Given the description of an element on the screen output the (x, y) to click on. 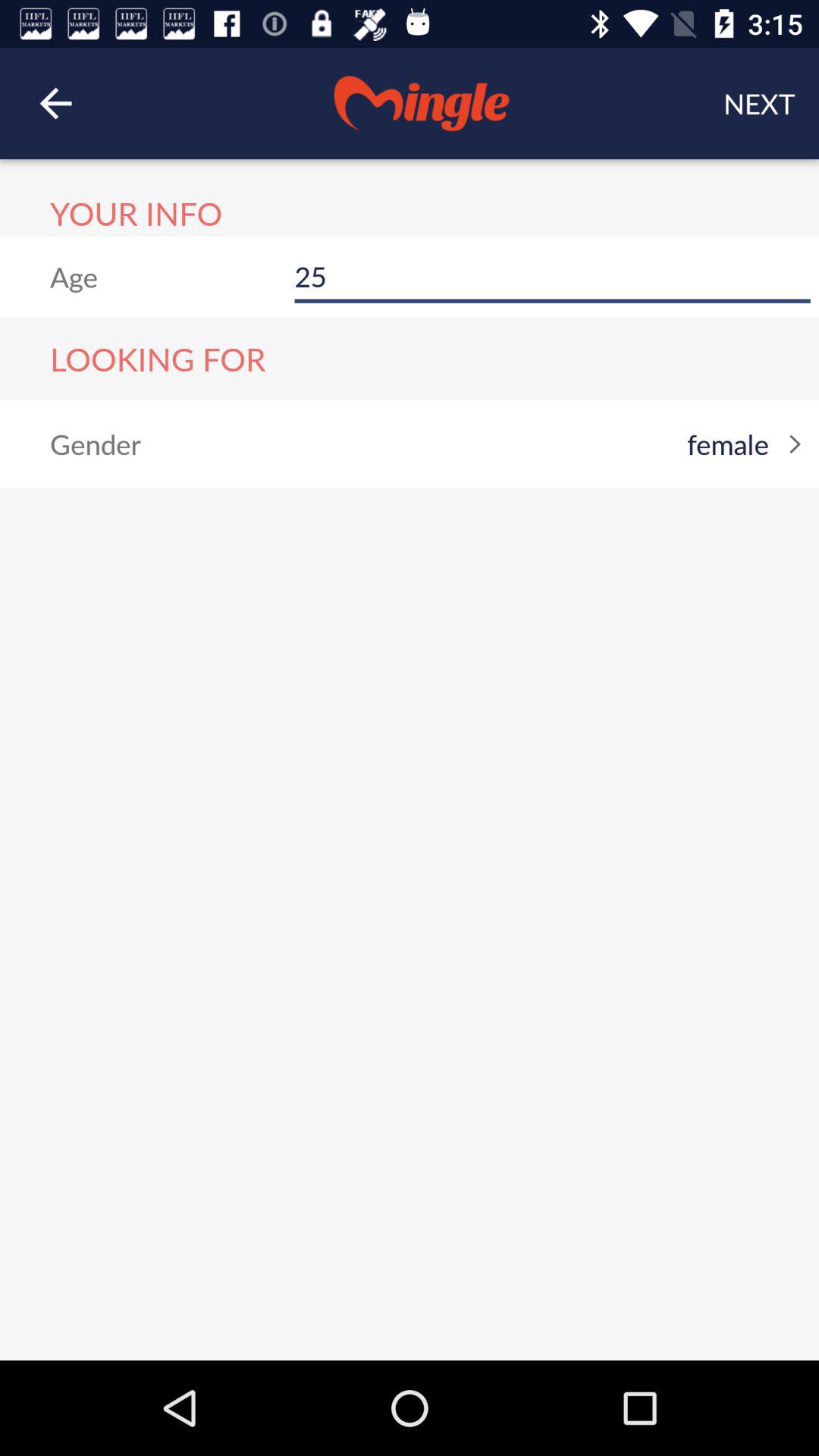
turn on item below the next (552, 276)
